Given the description of an element on the screen output the (x, y) to click on. 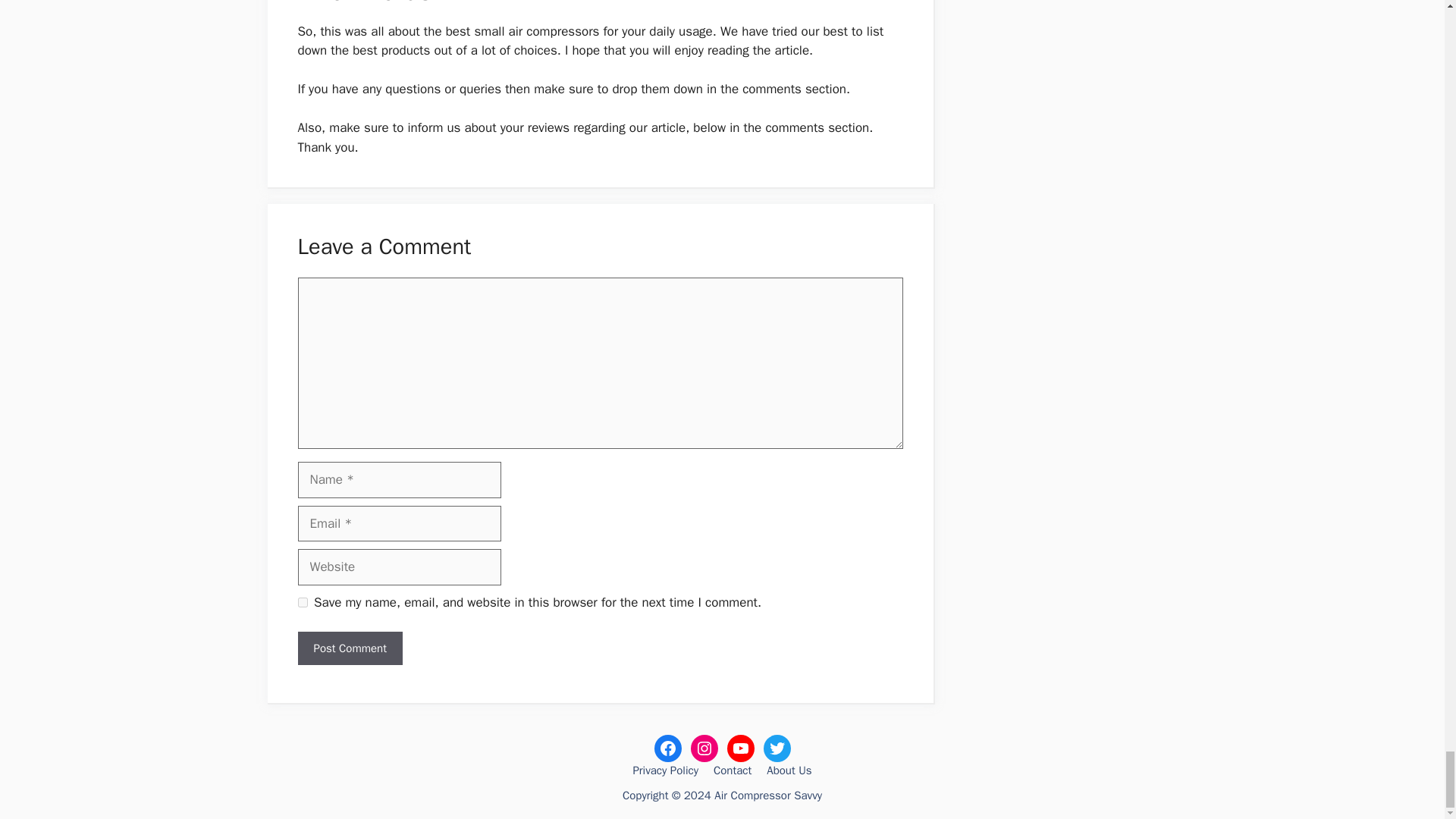
yes (302, 602)
Post Comment (349, 648)
